Given the description of an element on the screen output the (x, y) to click on. 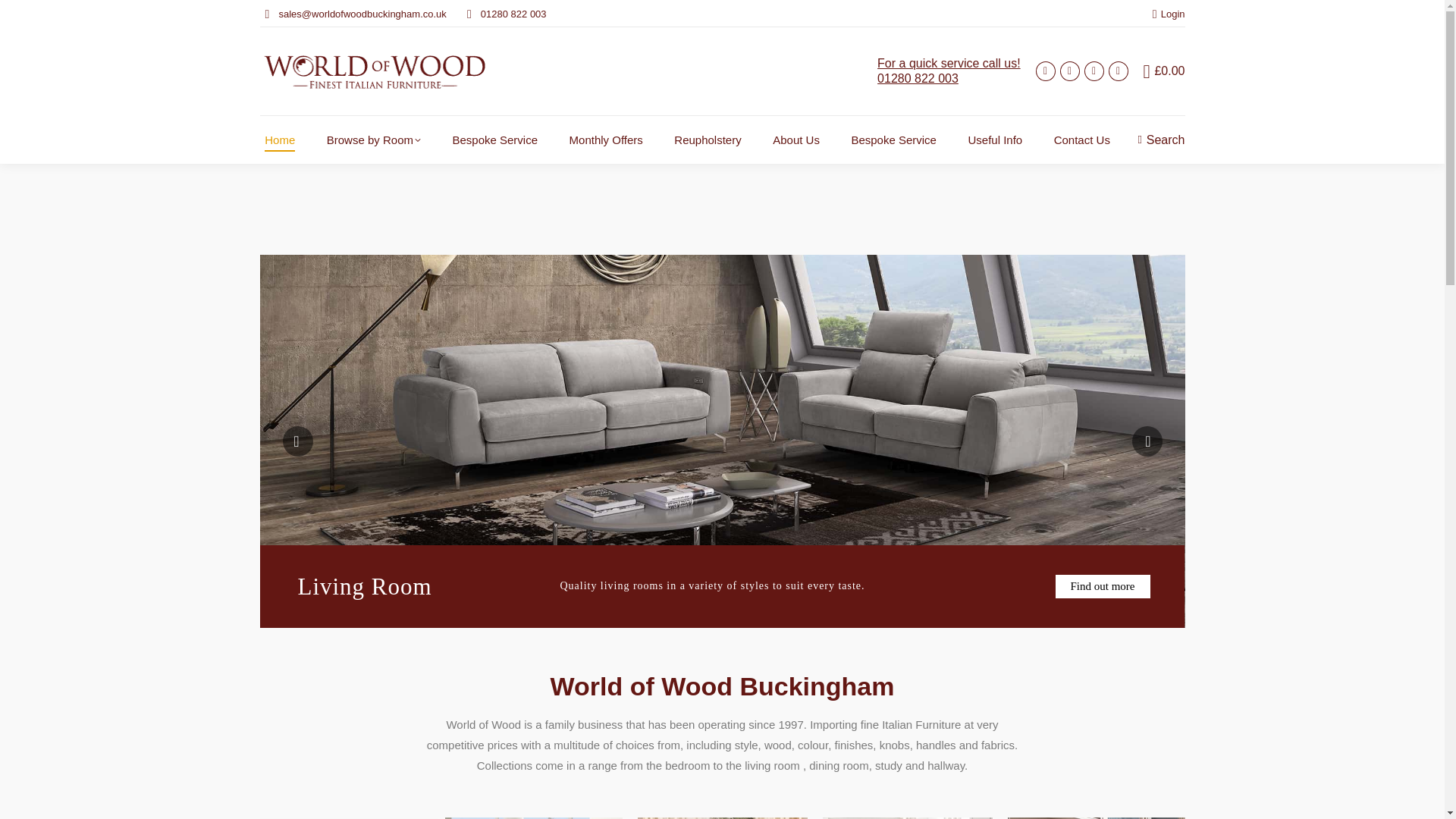
Reupholstery (707, 139)
Instagram page opens in new window (1093, 71)
Useful Info (994, 139)
Facebook page opens in new window (1045, 71)
Browse by Room (373, 139)
Instagram page opens in new window (948, 70)
Facebook page opens in new window (1093, 71)
Linkedin page opens in new window (1045, 71)
Linkedin page opens in new window (1118, 71)
X page opens in new window (1118, 71)
Monthly Offers (1069, 71)
About Us (605, 139)
X page opens in new window (795, 139)
Login (1069, 71)
